Given the description of an element on the screen output the (x, y) to click on. 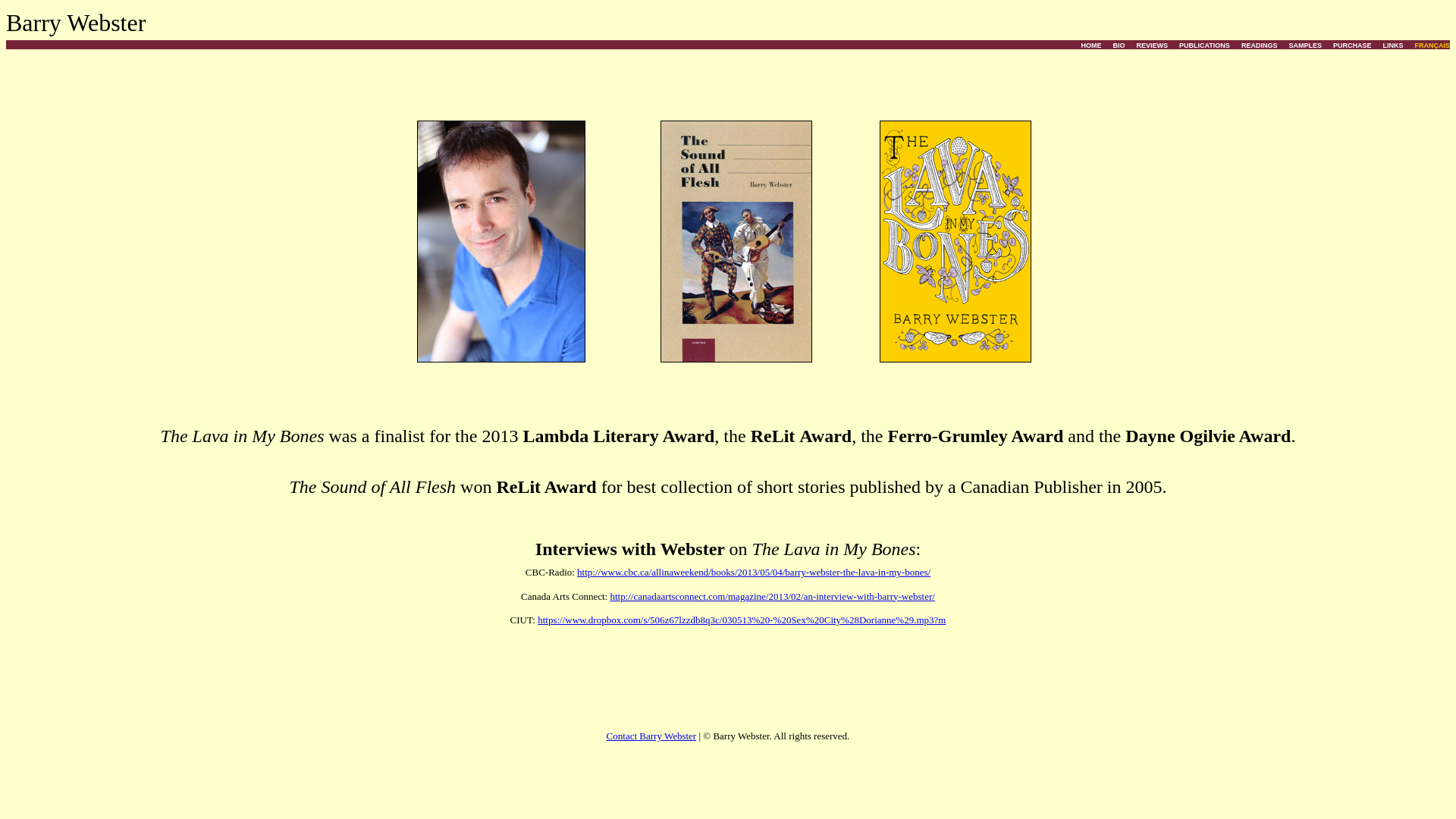
PUBLICATIONS Element type: text (1204, 45)
PURCHASE Element type: text (1352, 45)
READINGS Element type: text (1259, 45)
LINKS Element type: text (1392, 45)
REVIEWS Element type: text (1151, 45)
Contact Barry Webster Element type: text (651, 735)
SAMPLES Element type: text (1304, 45)
HOME Element type: text (1090, 45)
BIO Element type: text (1118, 45)
